Given the description of an element on the screen output the (x, y) to click on. 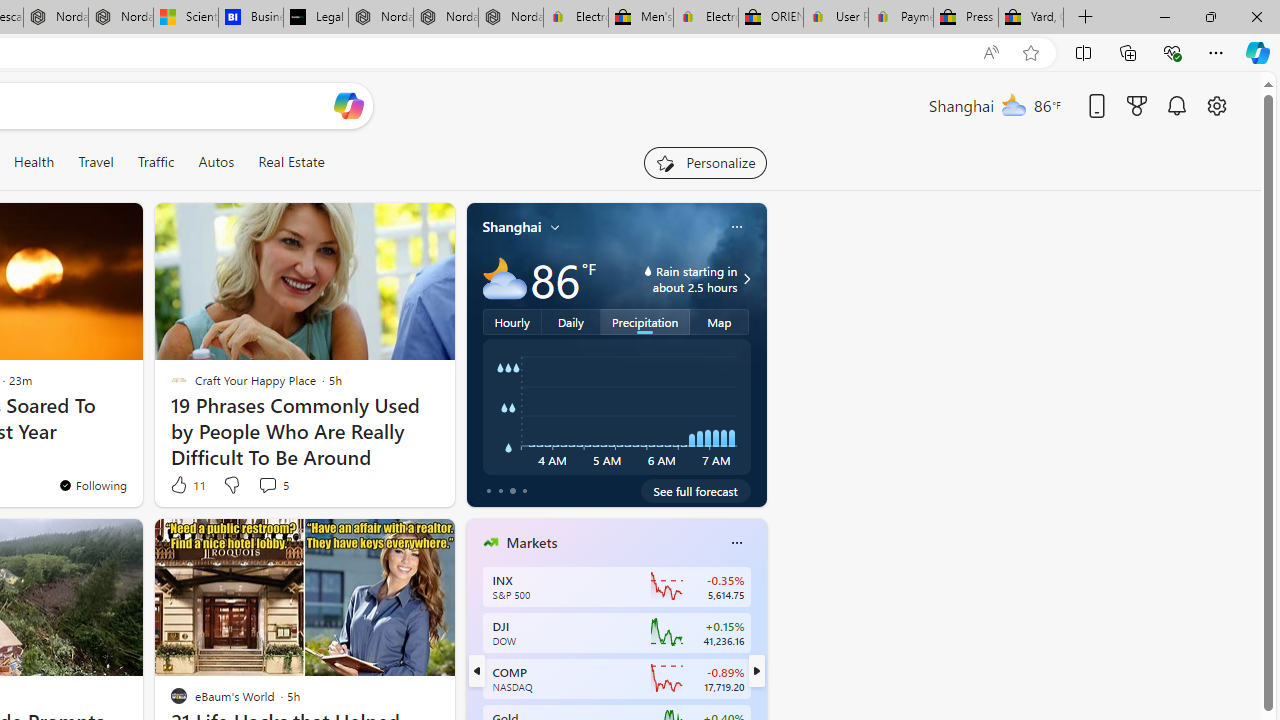
next (756, 670)
Mostly cloudy (504, 278)
Personalize your feed" (704, 162)
Autos (215, 161)
